Given the description of an element on the screen output the (x, y) to click on. 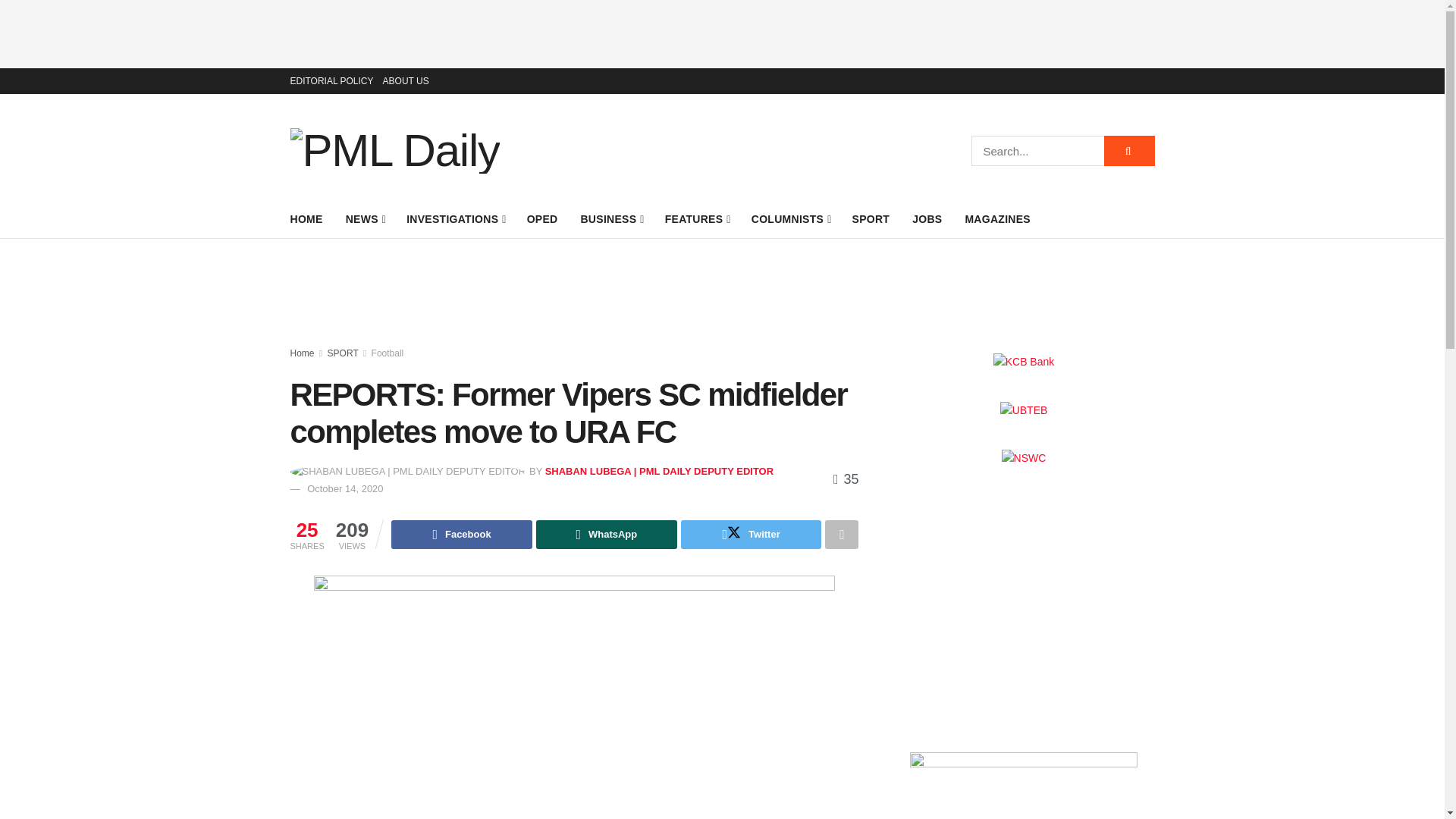
HOME (305, 219)
EDITORIAL POLICY (330, 80)
ABOUT US (405, 80)
JOBS (927, 219)
OPED (542, 219)
SPORT (870, 219)
INVESTIGATIONS (454, 219)
NEWS (365, 219)
BUSINESS (610, 219)
MAGAZINES (996, 219)
COLUMNISTS (790, 219)
FEATURES (697, 219)
